Given the description of an element on the screen output the (x, y) to click on. 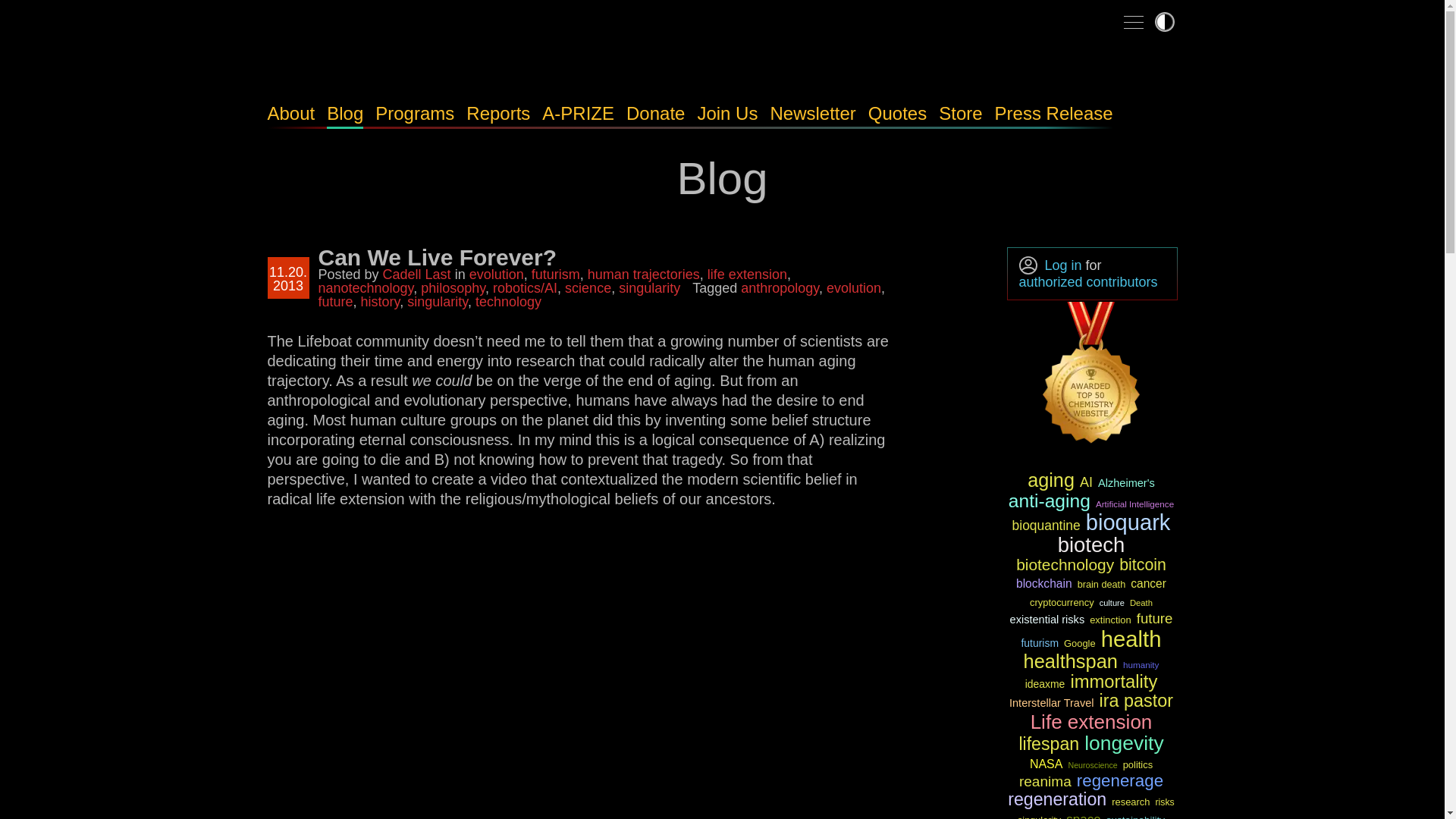
Newsletter (813, 113)
Blog (344, 113)
Reports (497, 113)
Programs (414, 113)
Join Us (727, 113)
Lifeboat Foundation: Safeguarding Humanity (395, 62)
A-PRIZE (577, 113)
Quotes (896, 113)
Chemistry Websites (1092, 374)
Store (960, 113)
Press Release (1053, 113)
Donate (655, 113)
About (290, 113)
